Given the description of an element on the screen output the (x, y) to click on. 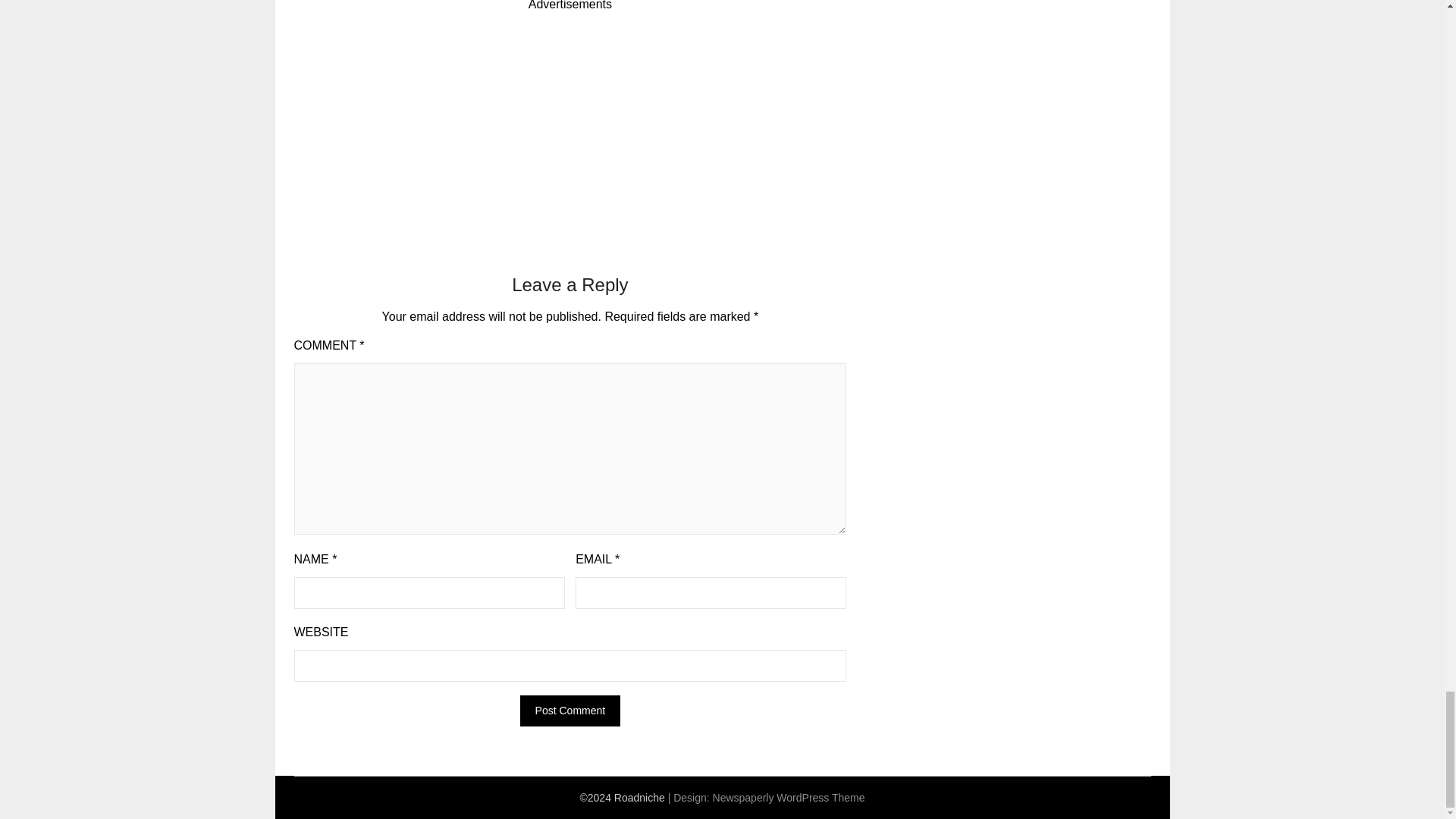
Post Comment (570, 710)
Post Comment (570, 710)
Newspaperly WordPress Theme (788, 797)
